Given the description of an element on the screen output the (x, y) to click on. 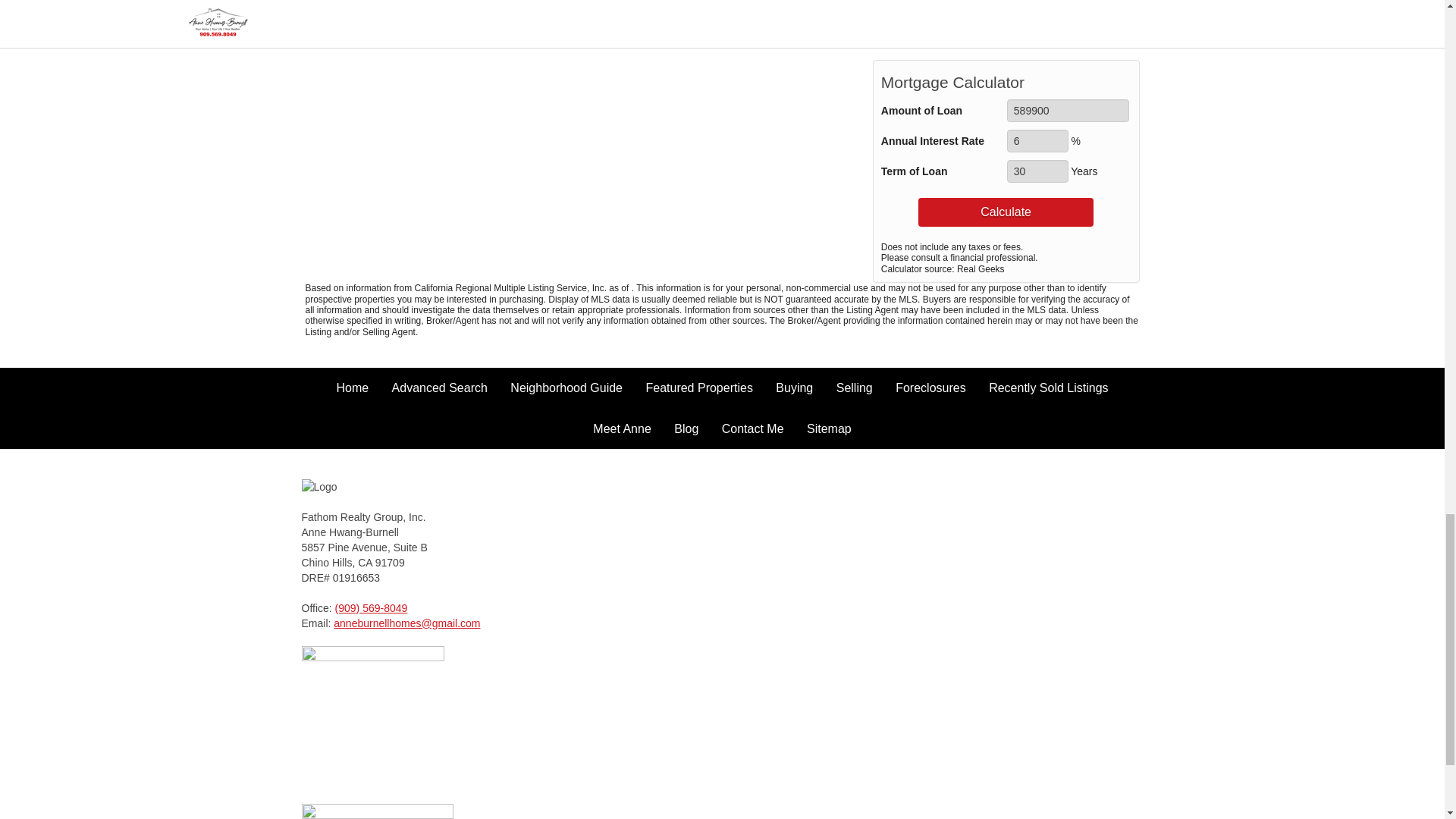
Logo (357, 486)
30 (1037, 170)
6 (1037, 140)
589900 (1068, 110)
MLS Logo (376, 811)
